Given the description of an element on the screen output the (x, y) to click on. 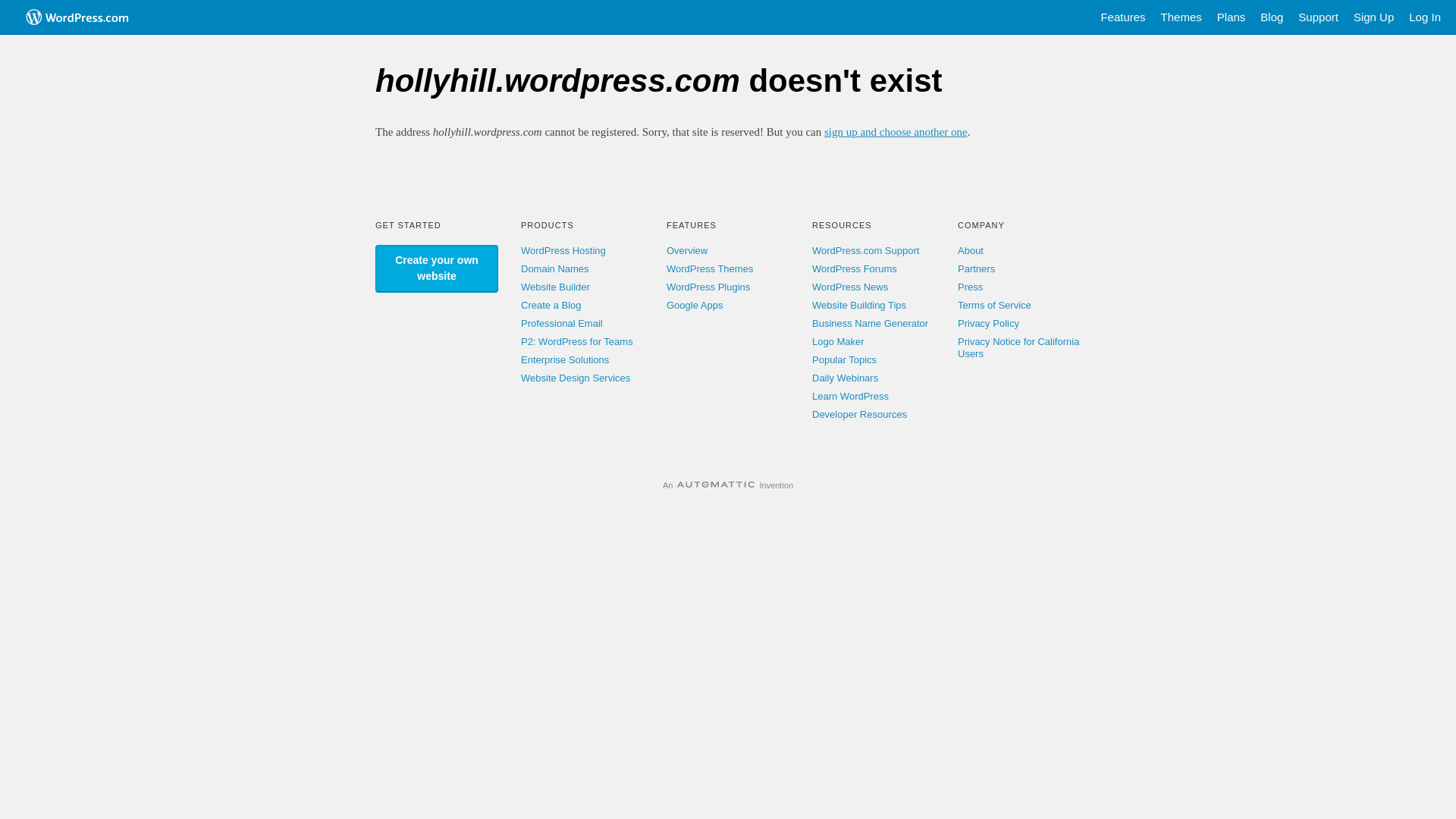
Enterprise Solutions Element type: text (564, 359)
Privacy Notice for California Users Element type: text (1018, 347)
Themes Element type: text (1181, 17)
About Element type: text (970, 250)
Support Element type: text (1318, 17)
Plans Element type: text (1231, 17)
WordPress Themes Element type: text (709, 268)
Log In Element type: text (1424, 17)
sign up and choose another one Element type: text (895, 131)
Professional Email Element type: text (561, 323)
Learn WordPress Element type: text (850, 395)
Website Builder Element type: text (554, 286)
Create your own website Element type: text (436, 268)
Website Building Tips Element type: text (859, 304)
Popular Topics Element type: text (844, 359)
Partners Element type: text (975, 268)
Overview Element type: text (686, 250)
Business Name Generator Element type: text (870, 323)
Privacy Policy Element type: text (988, 323)
Sign Up Element type: text (1373, 17)
Developer Resources Element type: text (859, 414)
Automattic Element type: text (715, 485)
WordPress News Element type: text (850, 286)
Blog Element type: text (1271, 17)
Google Apps Element type: text (694, 304)
Create a Blog Element type: text (550, 304)
Press Element type: text (969, 286)
Website Design Services Element type: text (575, 377)
Daily Webinars Element type: text (845, 377)
WordPress Hosting Element type: text (562, 250)
Terms of Service Element type: text (994, 304)
Logo Maker Element type: text (838, 341)
WordPress.com Support Element type: text (865, 250)
WordPress Forums Element type: text (854, 268)
WordPress Plugins Element type: text (707, 286)
P2: WordPress for Teams Element type: text (576, 341)
Features Element type: text (1122, 17)
Domain Names Element type: text (554, 268)
